Given the description of an element on the screen output the (x, y) to click on. 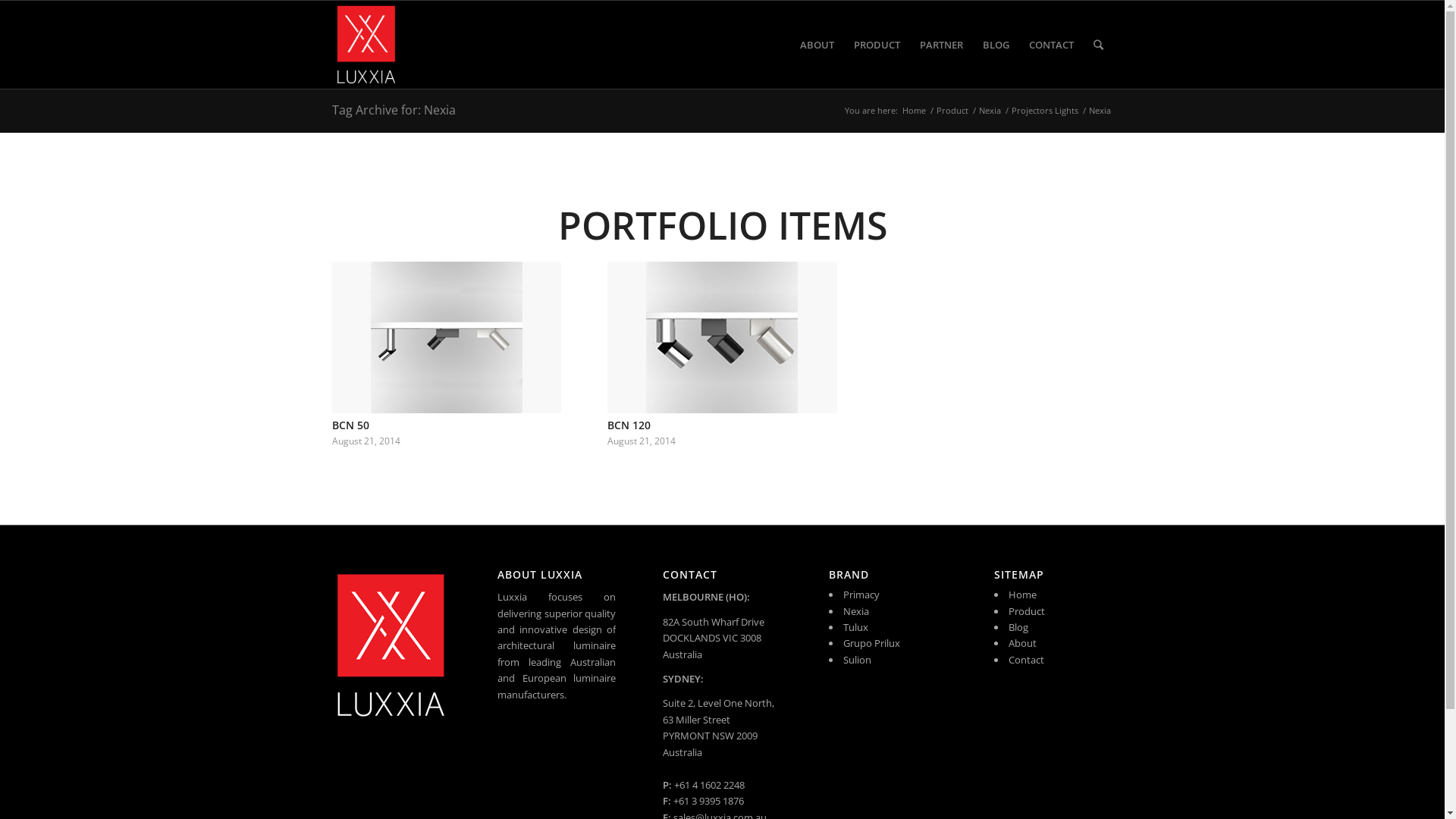
Nexia Element type: text (989, 110)
BCN 120 Element type: text (628, 424)
Nexia Element type: text (856, 611)
Blog Element type: text (1018, 626)
ABOUT Element type: text (817, 44)
BCN 50 Element type: text (350, 424)
Projectors Lights Element type: text (1043, 110)
Grupo Prilux Element type: text (871, 642)
CONTACT Element type: text (1051, 44)
PRODUCT Element type: text (876, 44)
Home Element type: text (913, 110)
Product Element type: text (952, 110)
Product Element type: text (1026, 611)
PARTNER Element type: text (941, 44)
Tag Archive for: Nexia Element type: text (393, 109)
Primacy Element type: text (861, 594)
About Element type: text (1022, 642)
Home Element type: text (1022, 594)
Sulion Element type: text (857, 659)
Tulux Element type: text (855, 626)
Contact Element type: text (1026, 659)
BLOG Element type: text (995, 44)
